Given the description of an element on the screen output the (x, y) to click on. 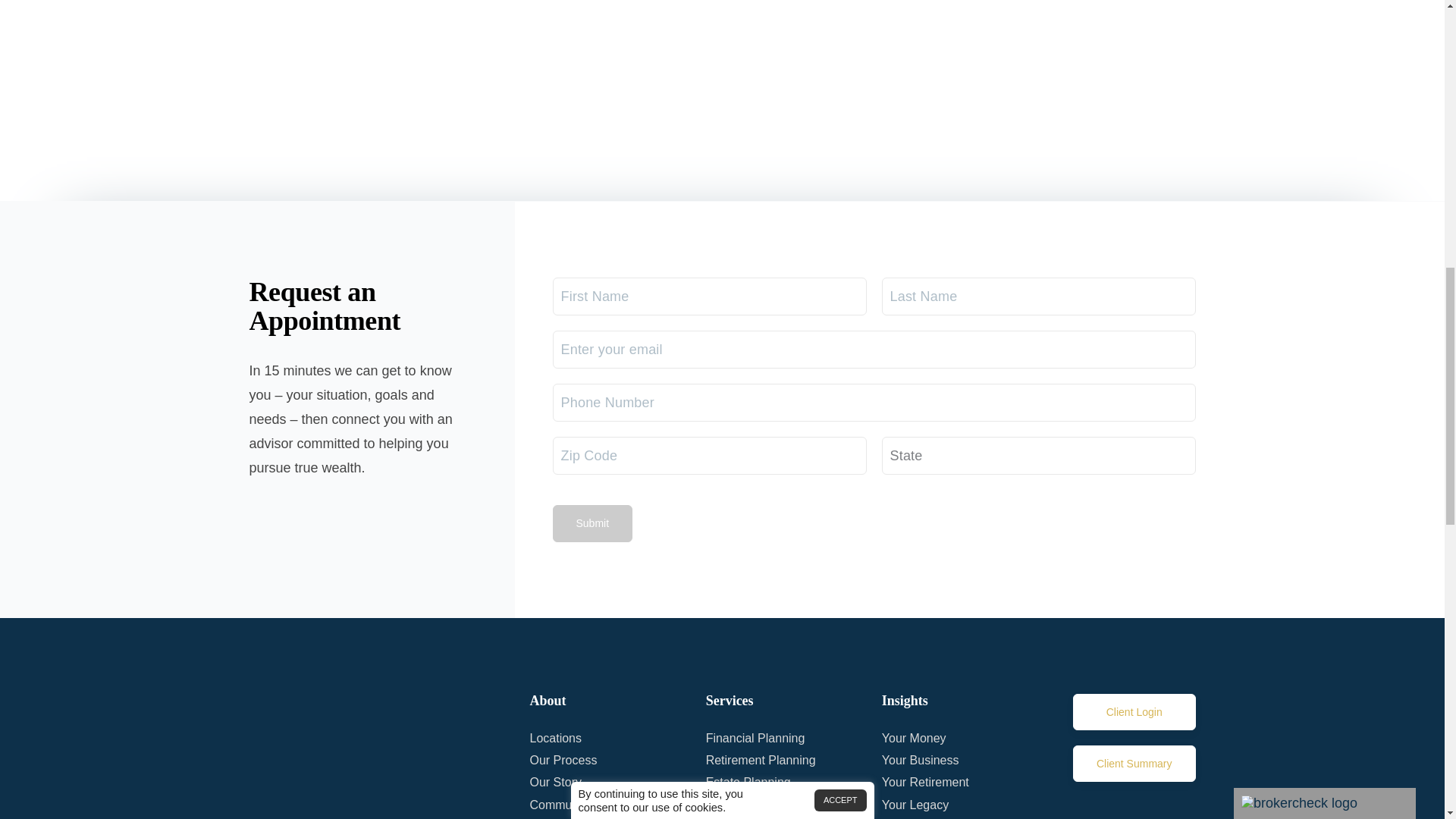
Submit (591, 523)
